Given the description of an element on the screen output the (x, y) to click on. 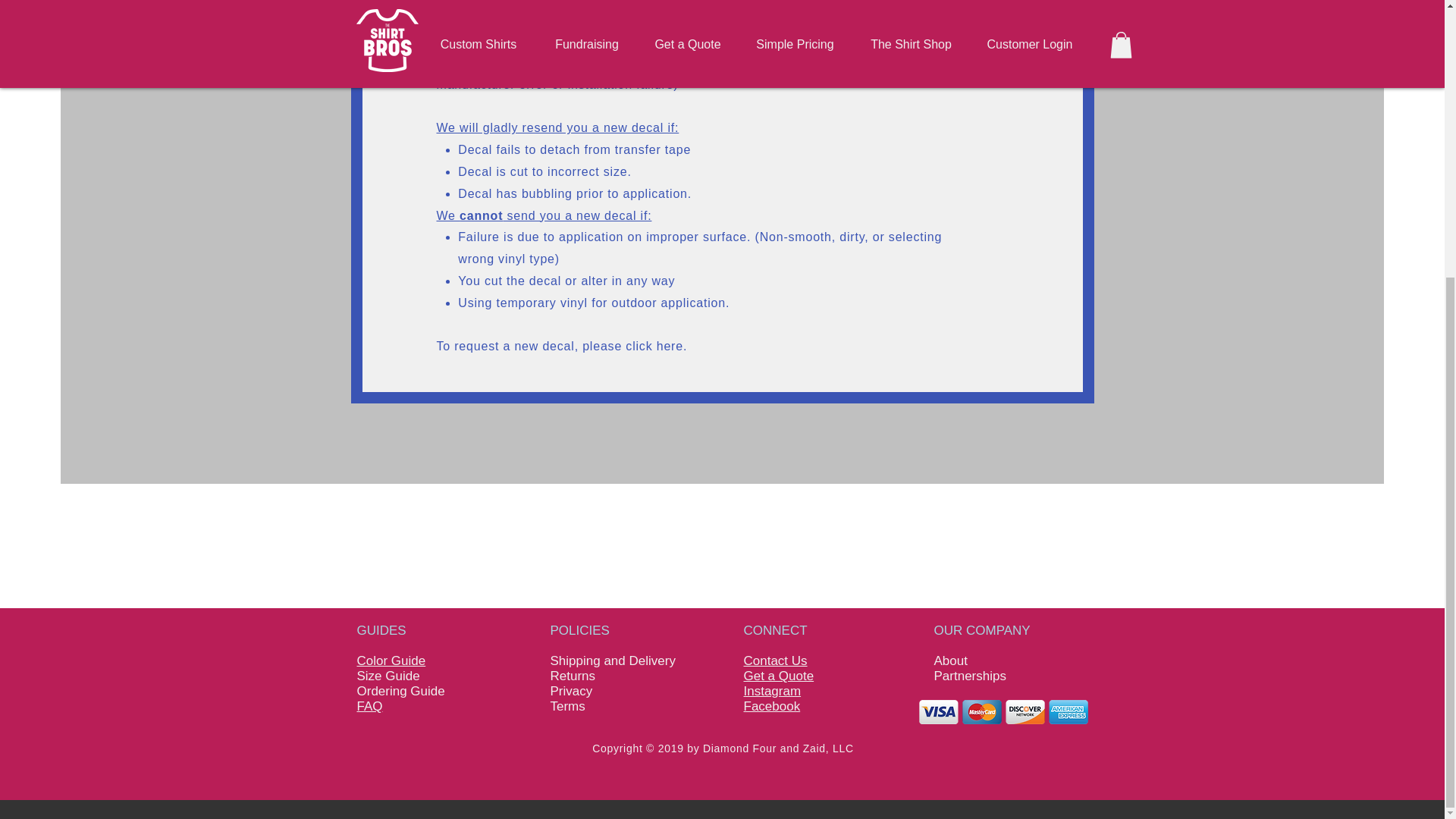
Facebook (770, 706)
Contact Us (774, 660)
Color Guide (390, 660)
FAQ (368, 706)
Get a Quote (777, 676)
Instagram (771, 690)
